Given the description of an element on the screen output the (x, y) to click on. 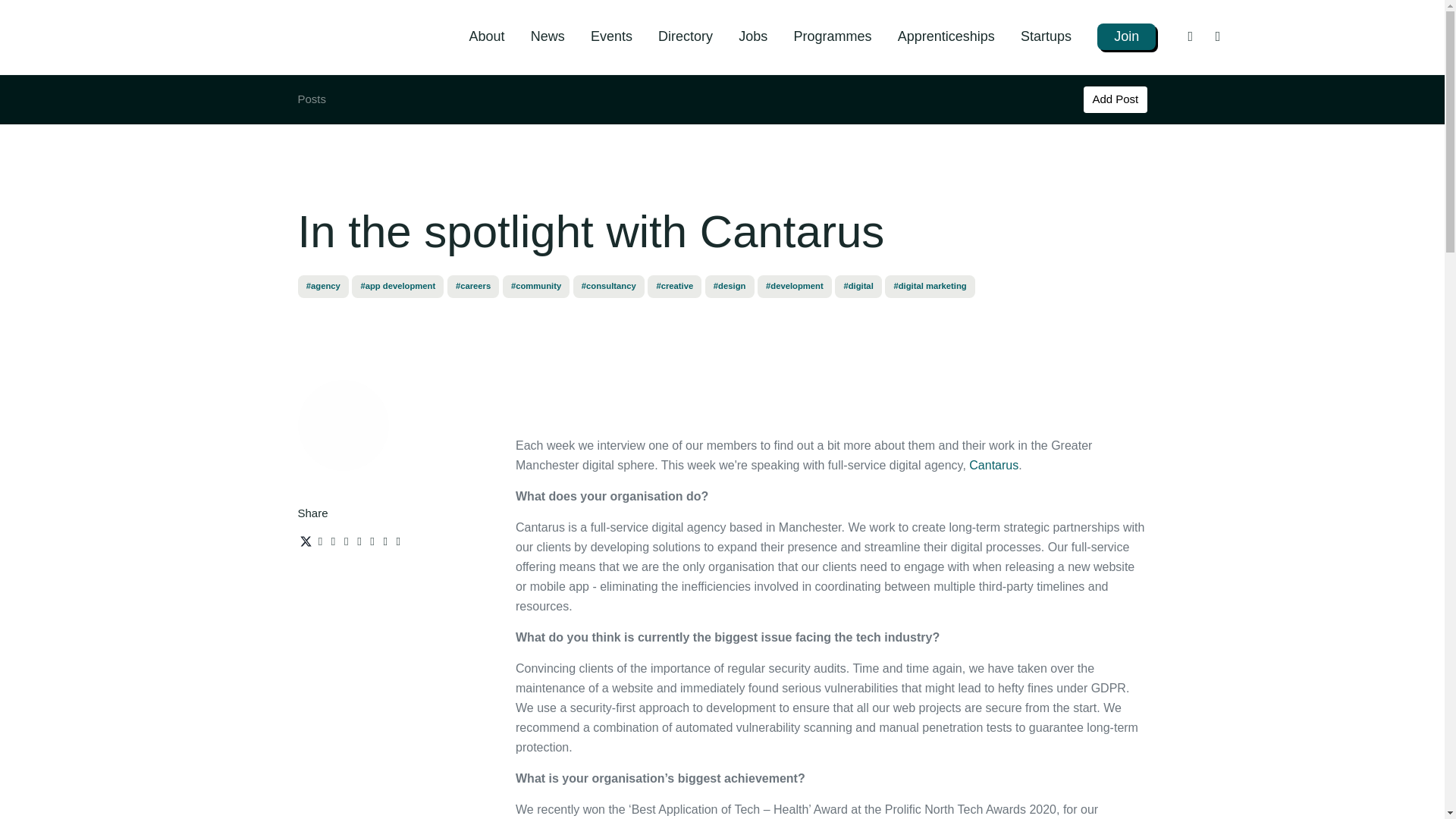
About (485, 36)
Jobs (752, 36)
Startups (1045, 36)
Apprenticeships (946, 36)
News (547, 36)
Directory (685, 36)
Events (611, 36)
Manchester Digital (271, 36)
Join (1126, 36)
Programmes (831, 36)
